Given the description of an element on the screen output the (x, y) to click on. 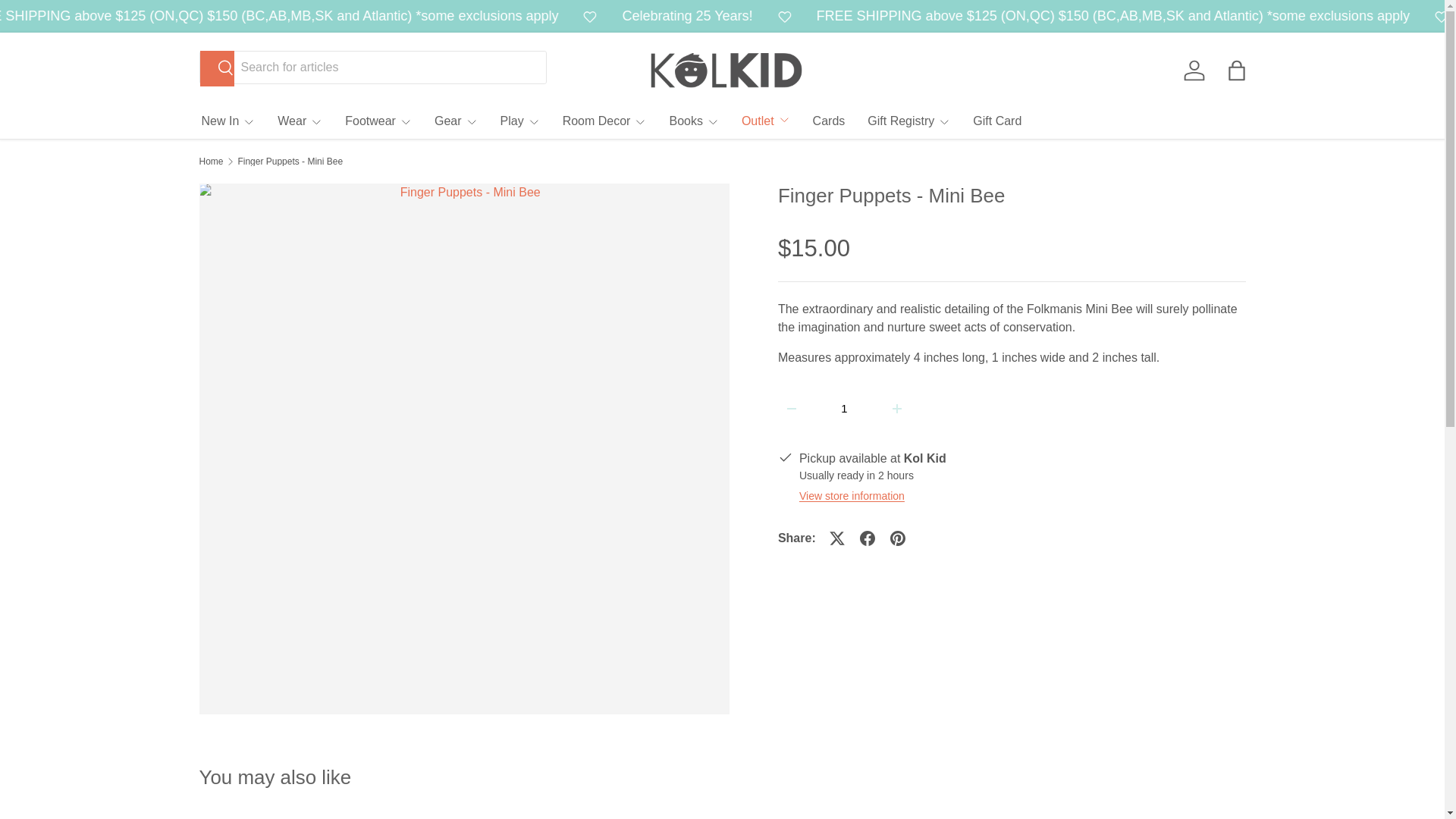
New In (229, 120)
Log in (1192, 70)
Search (217, 68)
Celebrating 25 Years! (788, 15)
Tweet on X (836, 538)
Skip to content (64, 21)
Pin on Pinterest (897, 538)
1 (844, 408)
Share on Facebook (866, 538)
Wear (299, 120)
